Given the description of an element on the screen output the (x, y) to click on. 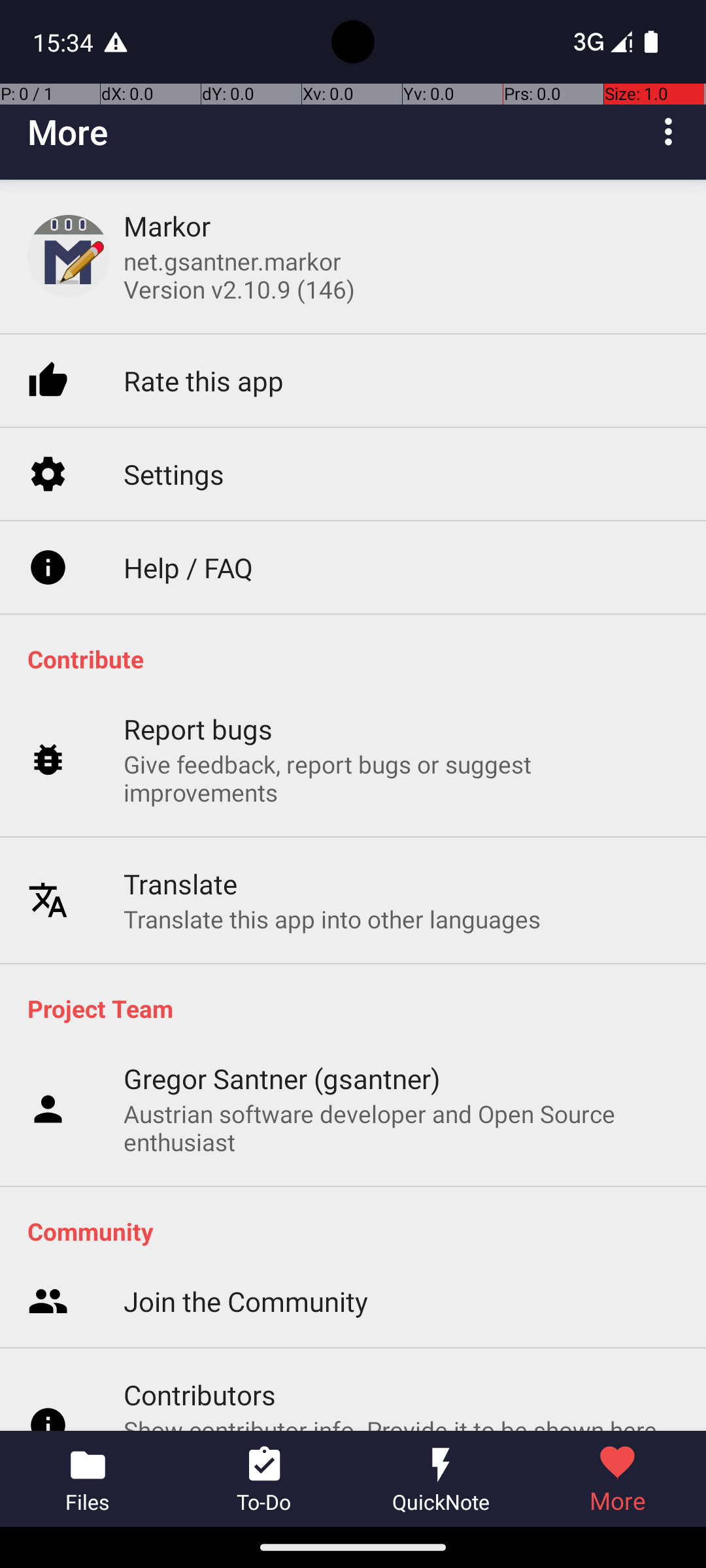
Contribute Element type: android.widget.TextView (359, 658)
Project Team Element type: android.widget.TextView (359, 1008)
Community Element type: android.widget.TextView (359, 1230)
net.gsantner.markor
Version v2.10.9 (146) Element type: android.widget.TextView (239, 274)
Rate this app Element type: android.widget.TextView (203, 369)
Help / FAQ Element type: android.widget.TextView (188, 555)
Report bugs Element type: android.widget.TextView (198, 717)
Give feedback, report bugs or suggest improvements Element type: android.widget.TextView (400, 766)
Translate Element type: android.widget.TextView (180, 872)
Translate this app into other languages Element type: android.widget.TextView (331, 907)
Gregor Santner (gsantner) Element type: android.widget.TextView (281, 1077)
Austrian software developer and Open Source enthusiast Element type: android.widget.TextView (400, 1127)
Join the Community Element type: android.widget.TextView (245, 1263)
Contributors Element type: android.widget.TextView (199, 1356)
Show contributor info. Provide it to be shown here on an opt-in basis after contributing Element type: android.widget.TextView (400, 1402)
